Given the description of an element on the screen output the (x, y) to click on. 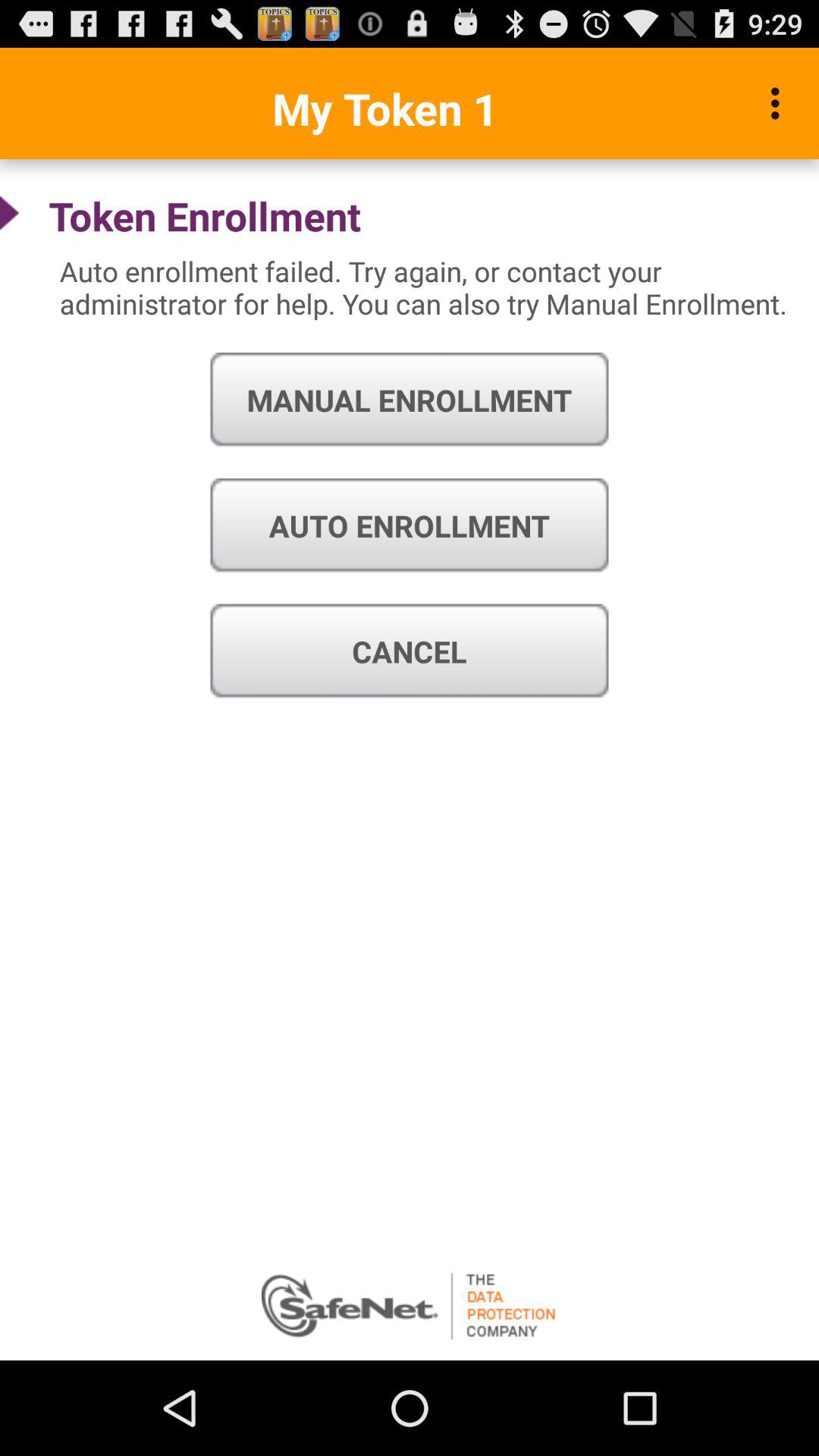
launch icon to the right of my token 1 icon (779, 103)
